Given the description of an element on the screen output the (x, y) to click on. 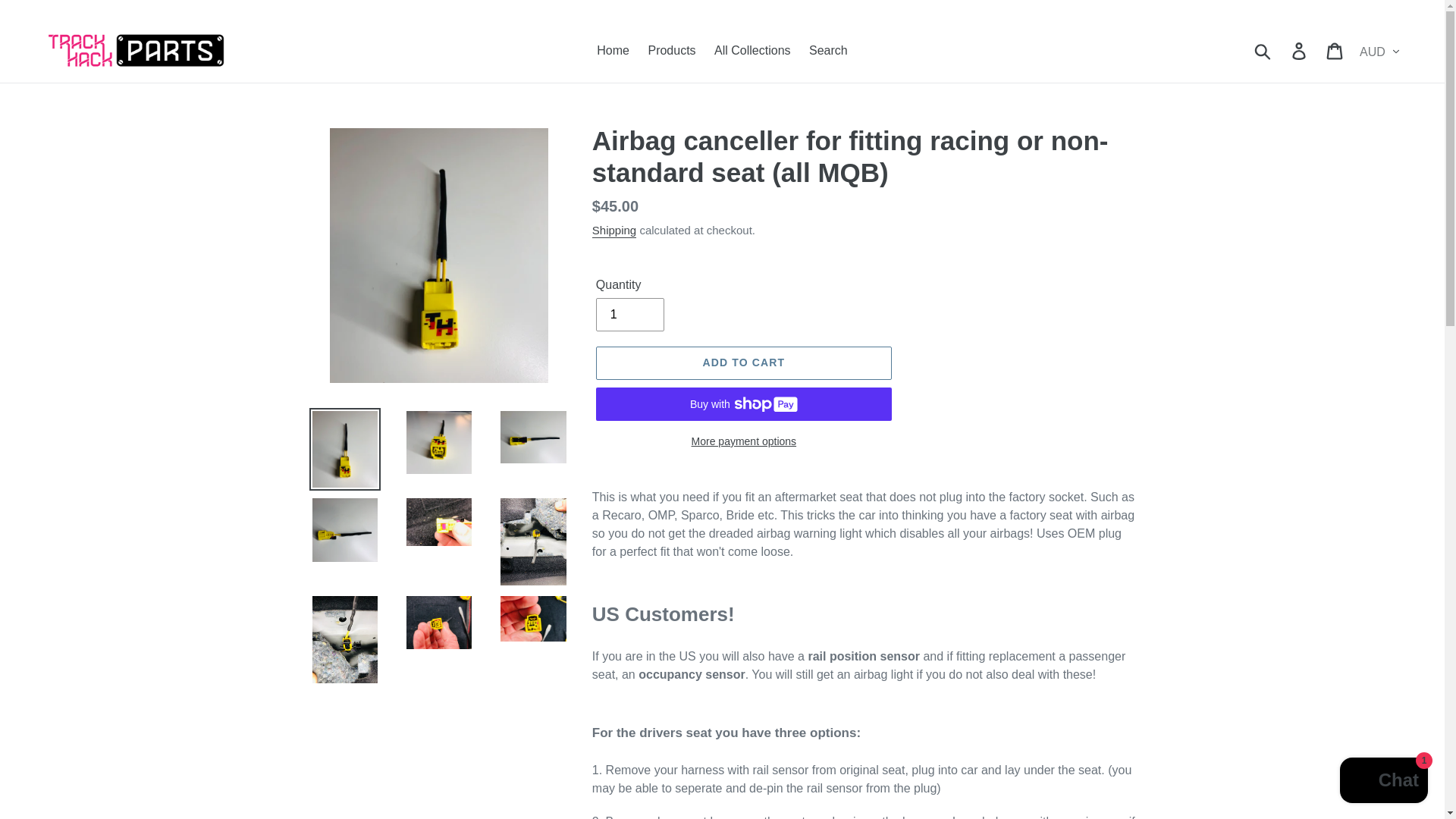
Shopify online store chat (1383, 781)
Search (829, 50)
Submit (1263, 49)
More payment options (743, 441)
Products (671, 50)
All Collections (751, 50)
1 (629, 314)
Shipping (614, 230)
Log in (1299, 49)
Home (613, 50)
Cart (1335, 49)
ADD TO CART (743, 363)
